Given the description of an element on the screen output the (x, y) to click on. 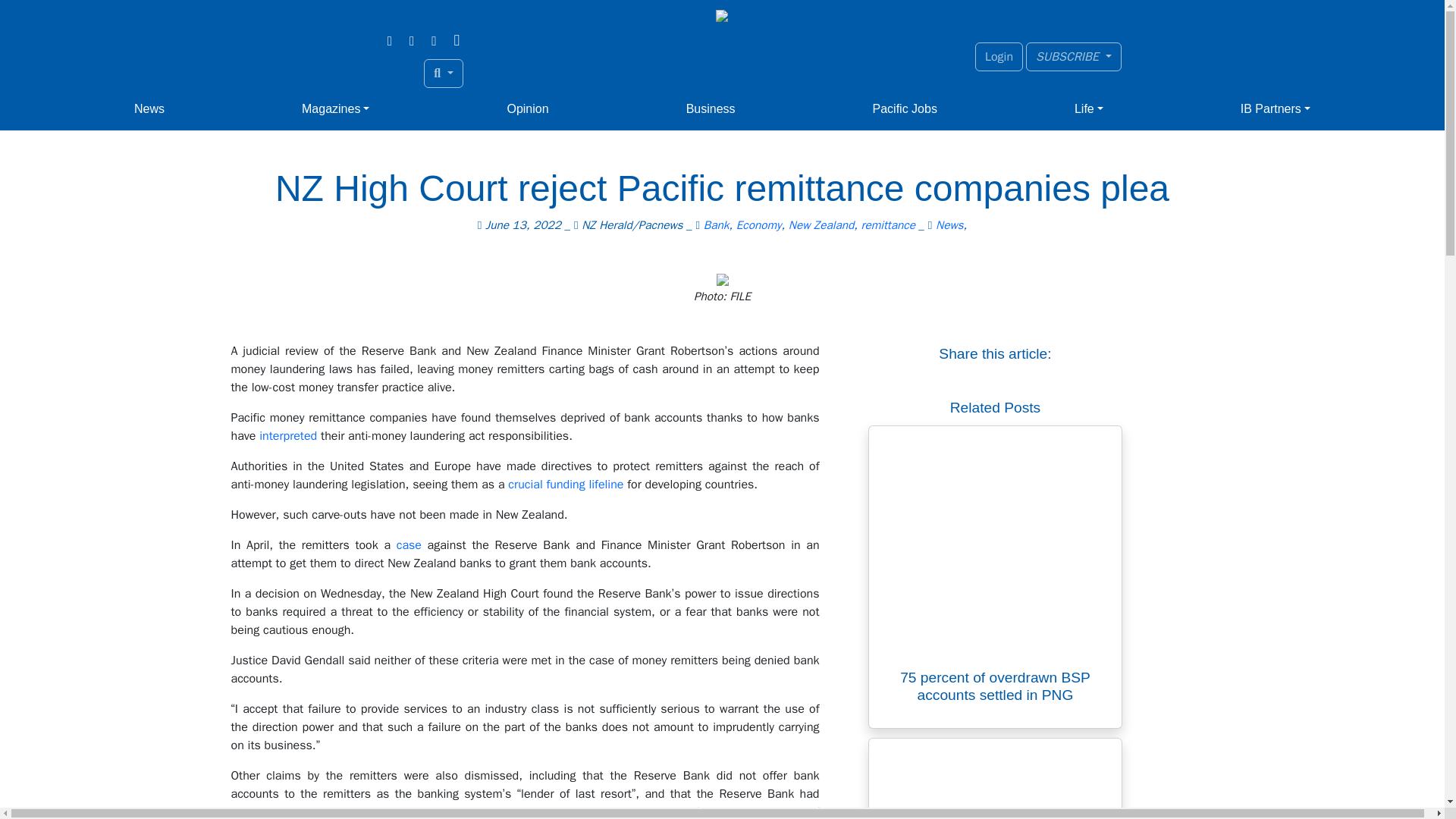
Pacific Jobs (904, 109)
Magazines (335, 109)
Opinion (527, 109)
IB Partners (1275, 109)
News (149, 109)
Business (710, 109)
Login (999, 56)
Login (999, 56)
Life (1088, 109)
SUBSCRIBE (1073, 56)
